Given the description of an element on the screen output the (x, y) to click on. 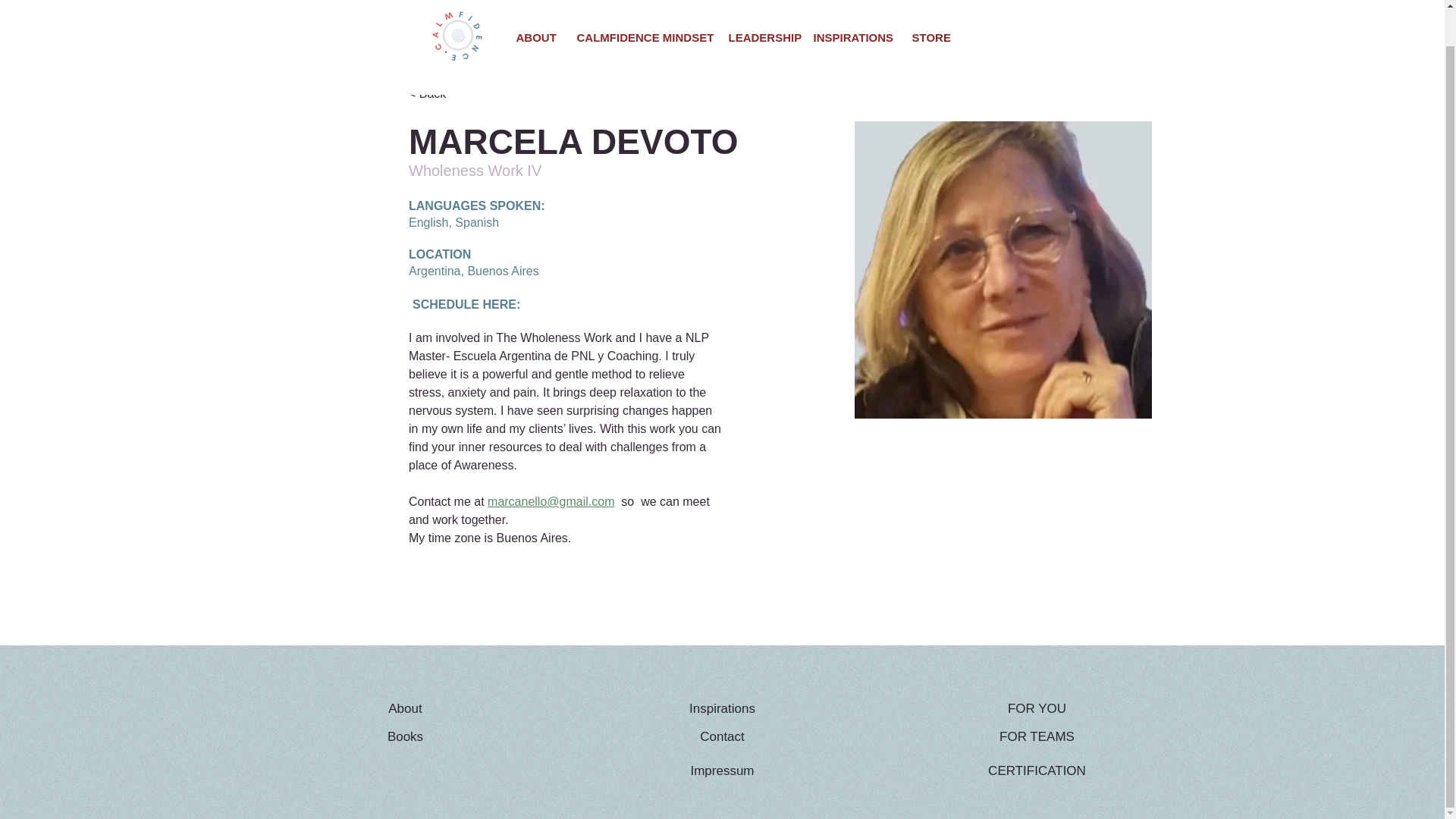
CERTIFICATION (1036, 770)
LEADERSHIP (758, 5)
About (406, 708)
Books (406, 736)
ABOUT (534, 5)
INSPIRATIONS (849, 5)
FOR TEAMS (1036, 736)
Inspirations (722, 708)
FOR YOU (1036, 708)
Impressum (722, 770)
CALMFIDENCE MINDSET (640, 5)
STORE (927, 5)
Contact (722, 736)
